Given the description of an element on the screen output the (x, y) to click on. 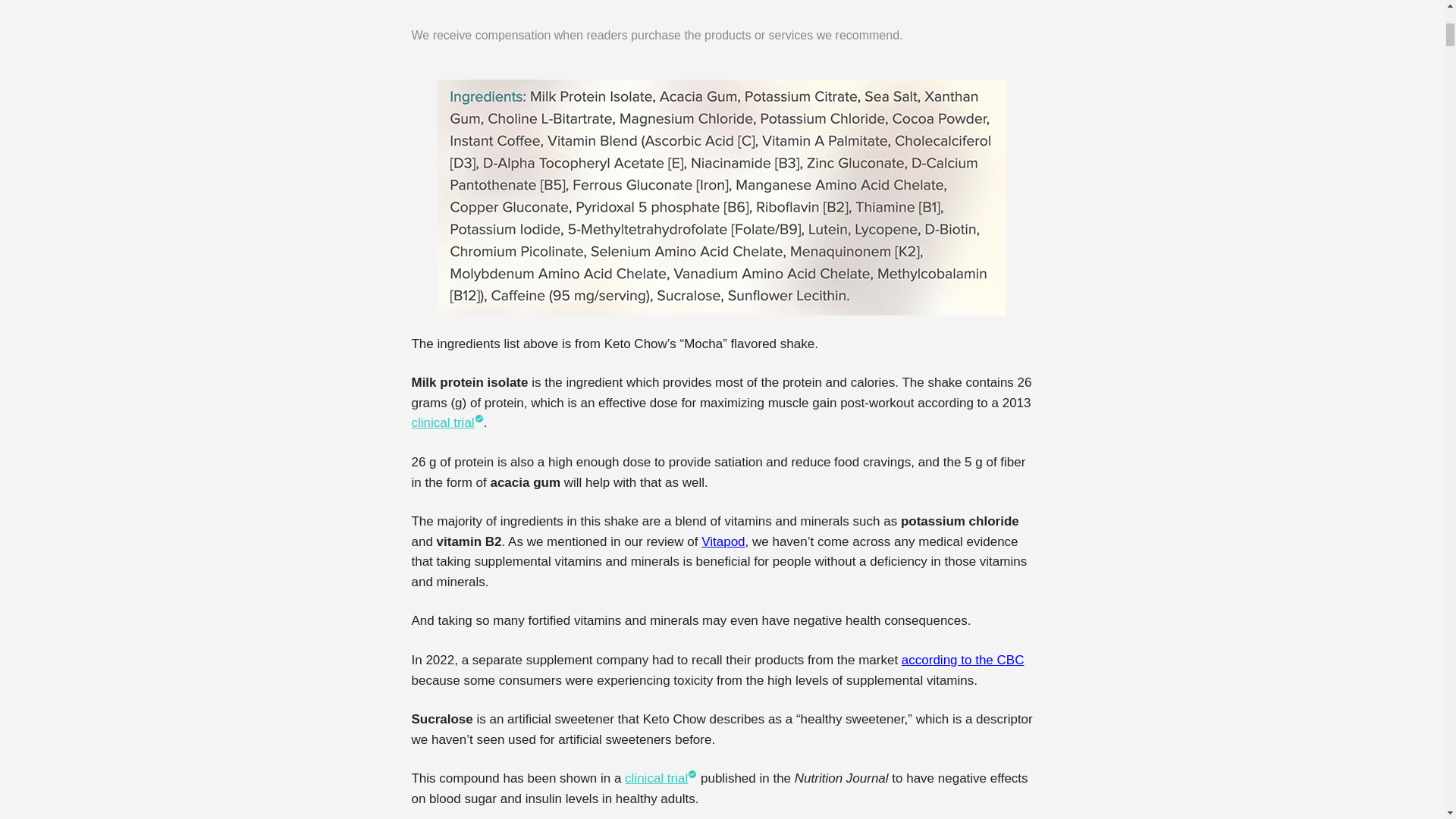
clinical trial (446, 423)
